Given the description of an element on the screen output the (x, y) to click on. 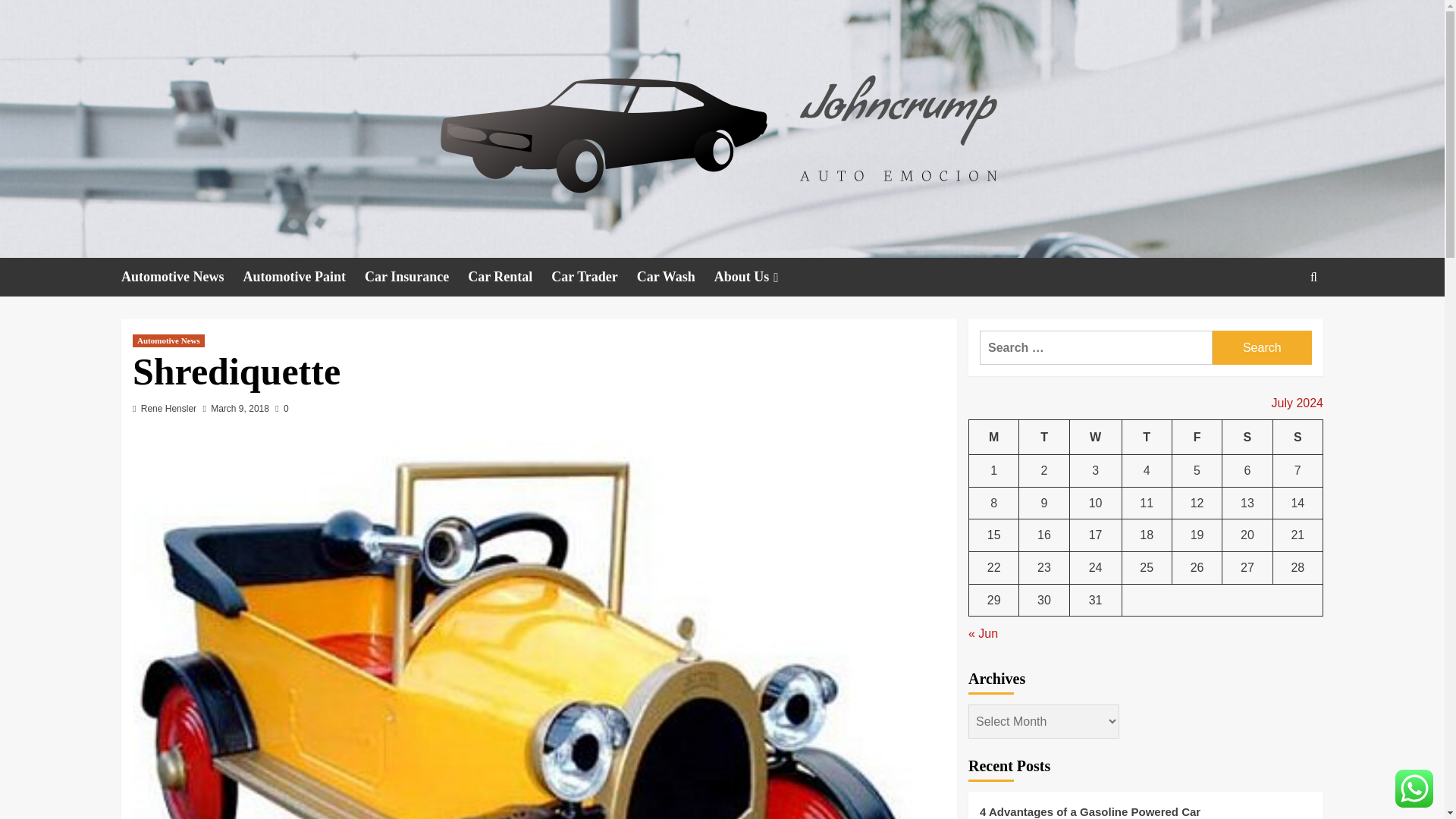
Car Trader (594, 276)
Automotive Paint (303, 276)
Automotive News (181, 276)
Tuesday (1043, 437)
Monday (994, 437)
Automotive News (168, 340)
Search (1261, 347)
Sunday (1297, 437)
Thursday (1146, 437)
Friday (1196, 437)
Car Rental (509, 276)
About Us (758, 276)
March 9, 2018 (240, 408)
Car Insurance (416, 276)
Search (1261, 347)
